Given the description of an element on the screen output the (x, y) to click on. 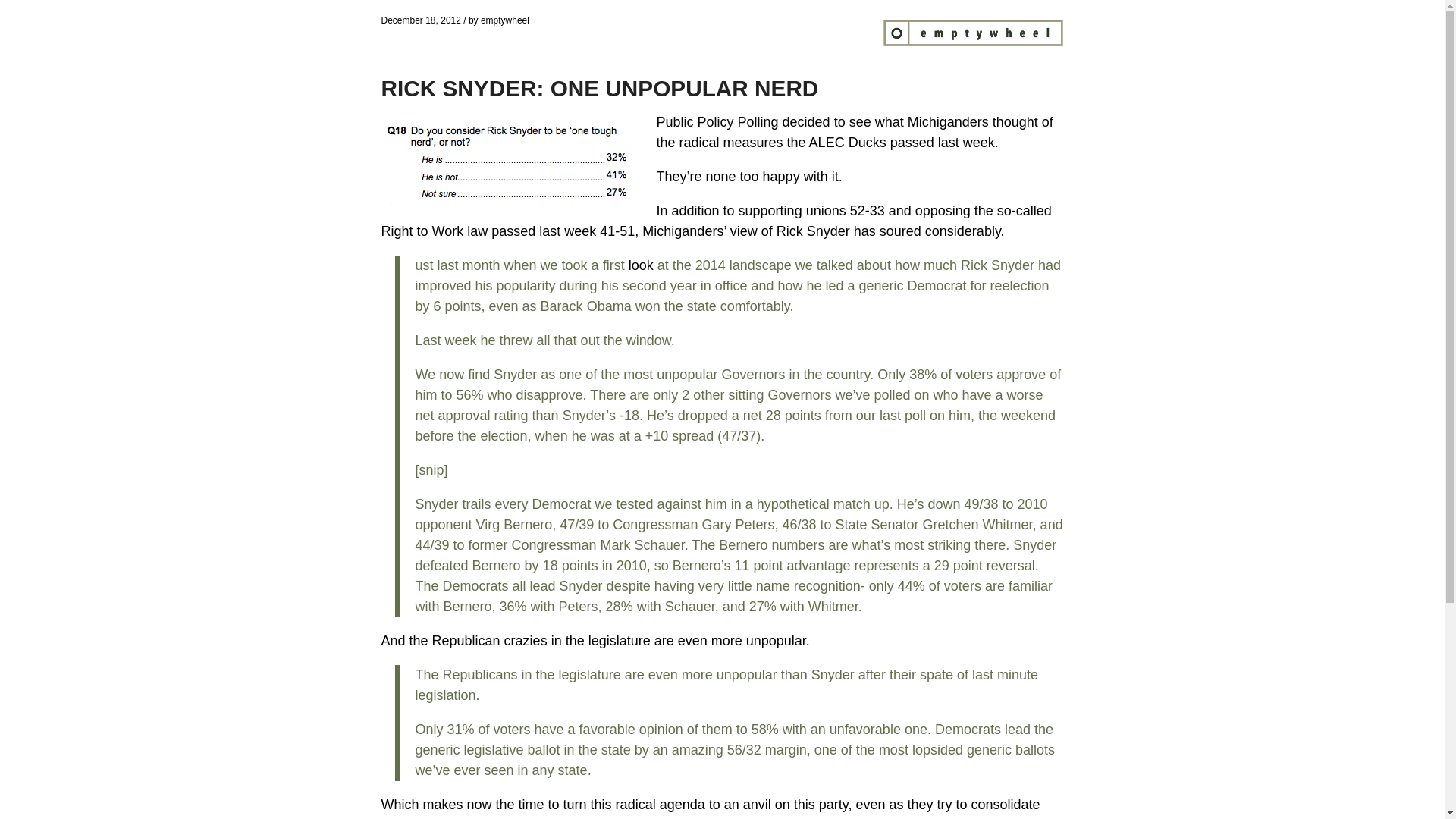
look (640, 264)
Screen shot 2012-12-18 at 11.21.29 AM (508, 160)
decided to see (826, 121)
they try to consolidate their power (709, 807)
